Given the description of an element on the screen output the (x, y) to click on. 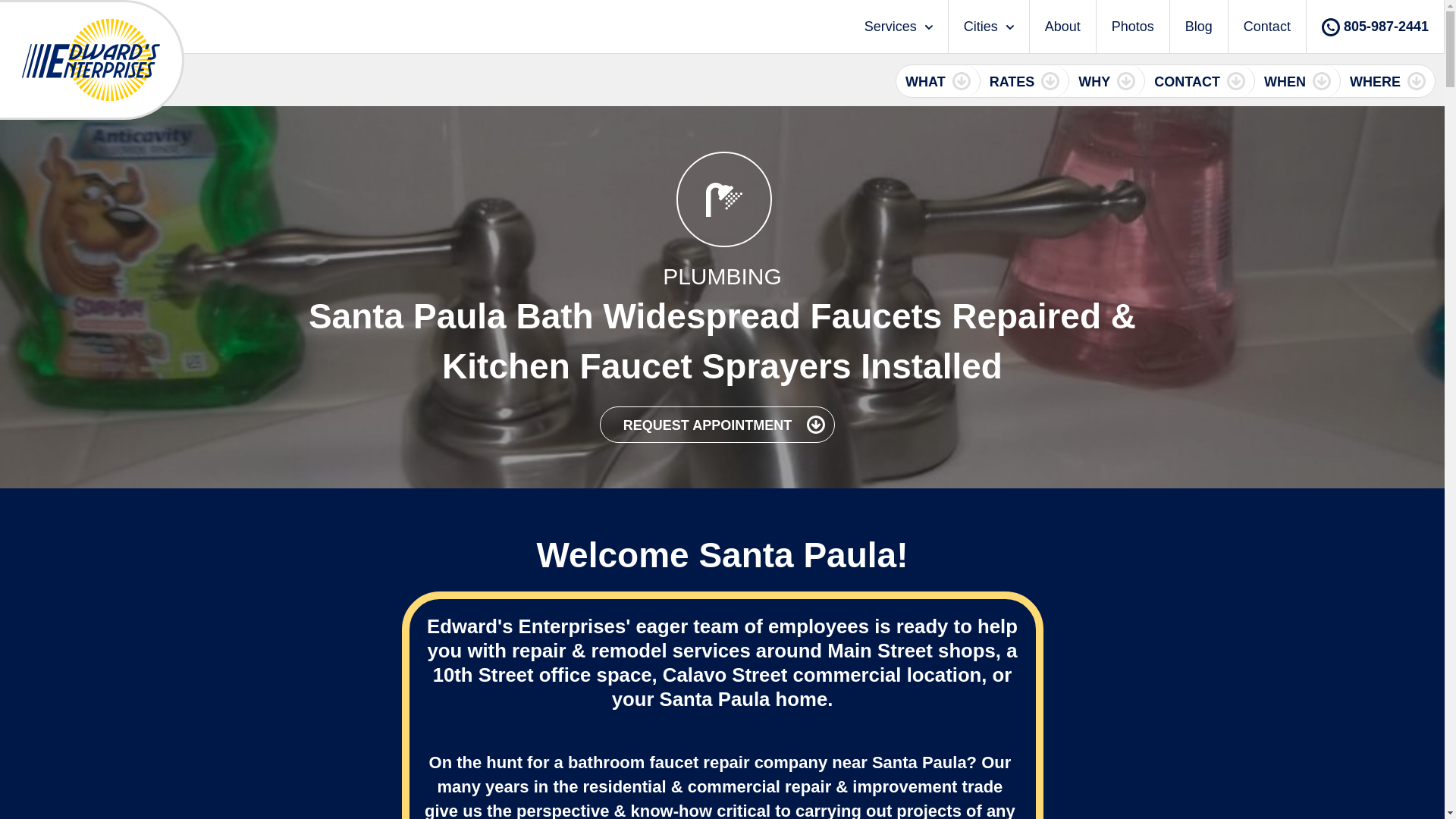
Edwards Enterprises (91, 59)
Edwards Enterprises (91, 59)
Services (897, 26)
